Given the description of an element on the screen output the (x, y) to click on. 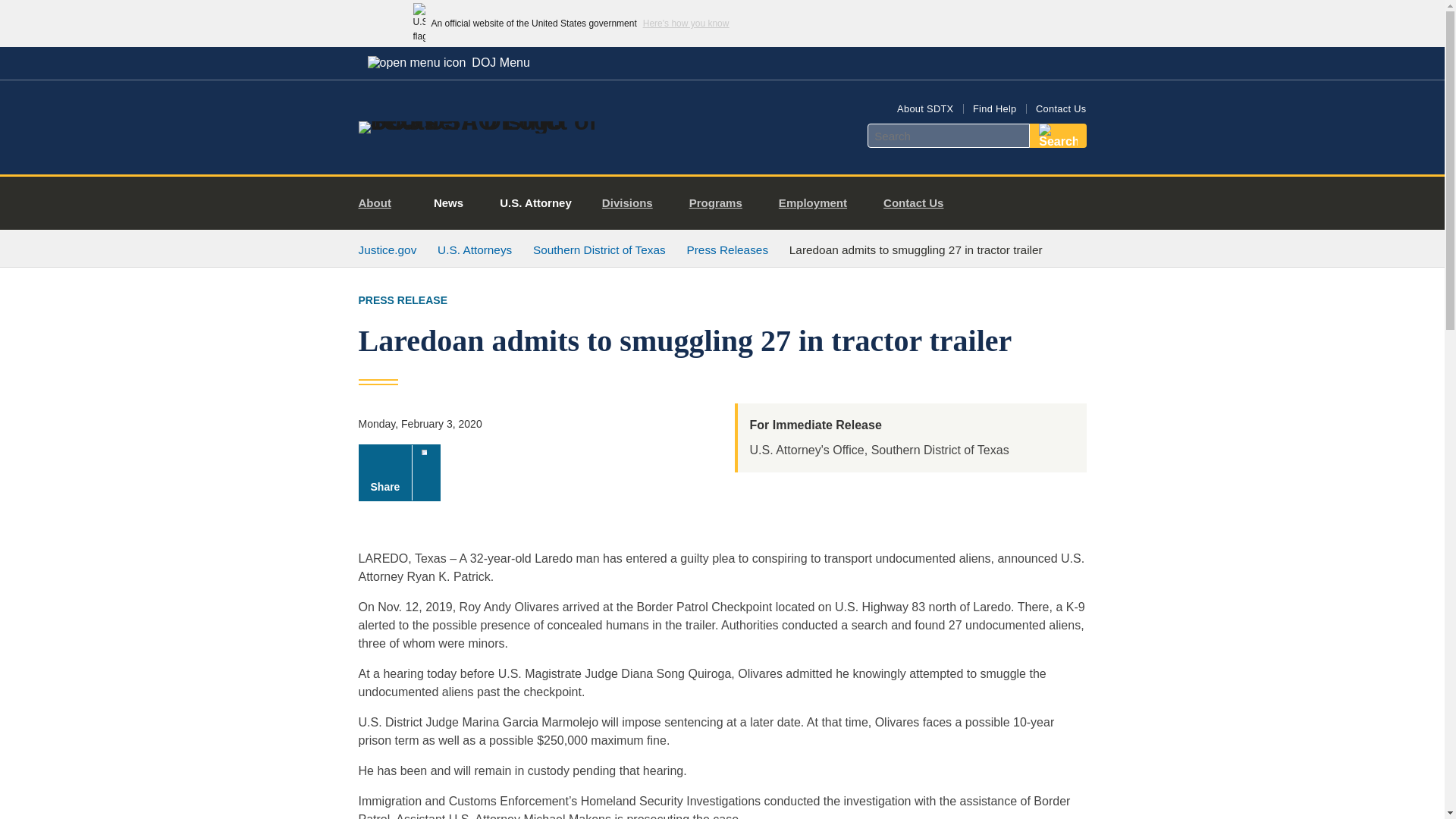
Press Releases (727, 249)
About SDTX (924, 108)
About (380, 203)
DOJ Menu (448, 62)
Home (481, 121)
Find Help (994, 108)
Contact Us (1060, 108)
Divisions (633, 203)
Southern District of Texas (598, 249)
U.S. Attorneys (475, 249)
